Given the description of an element on the screen output the (x, y) to click on. 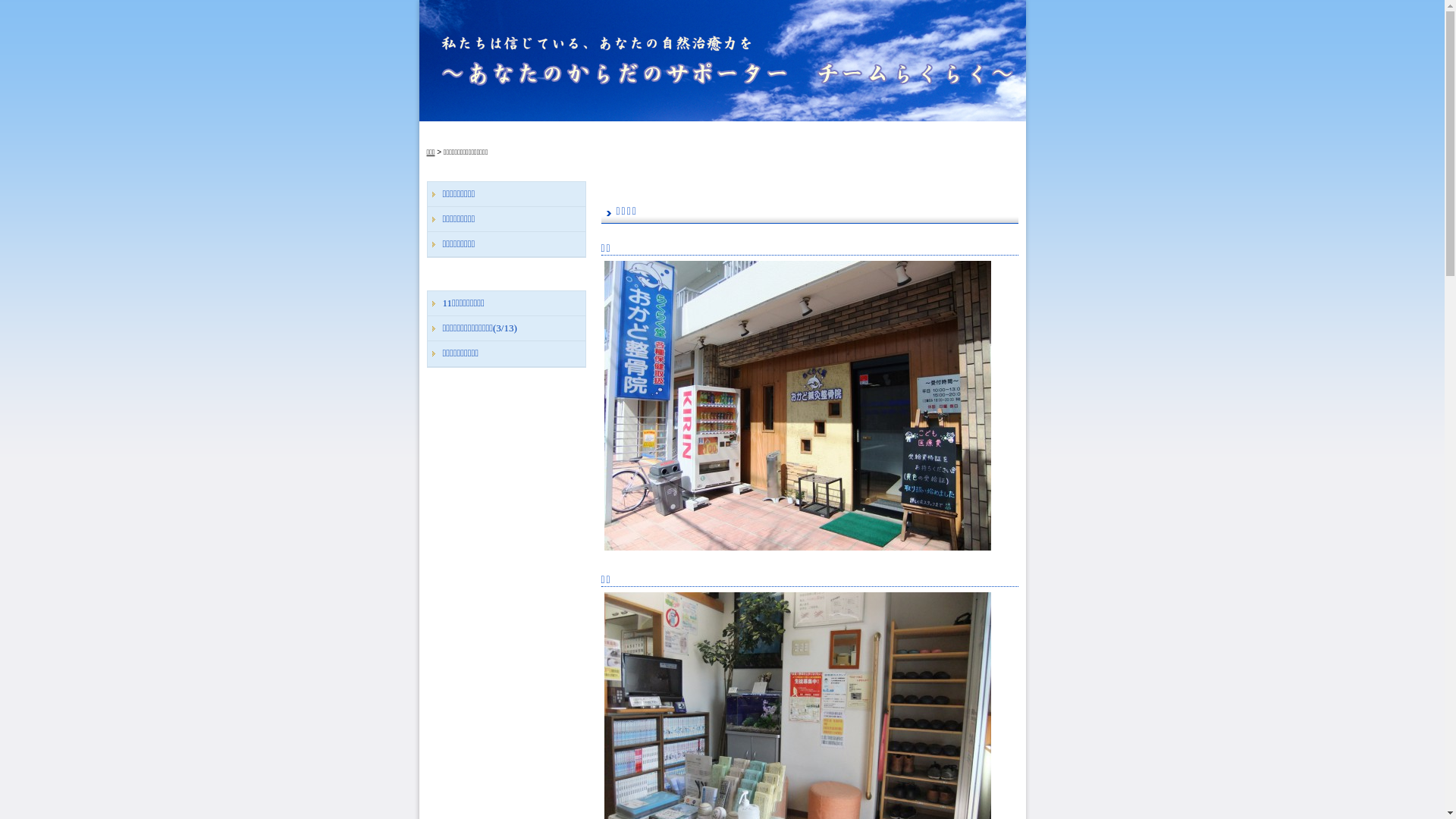
TOP Element type: text (456, 133)
